Given the description of an element on the screen output the (x, y) to click on. 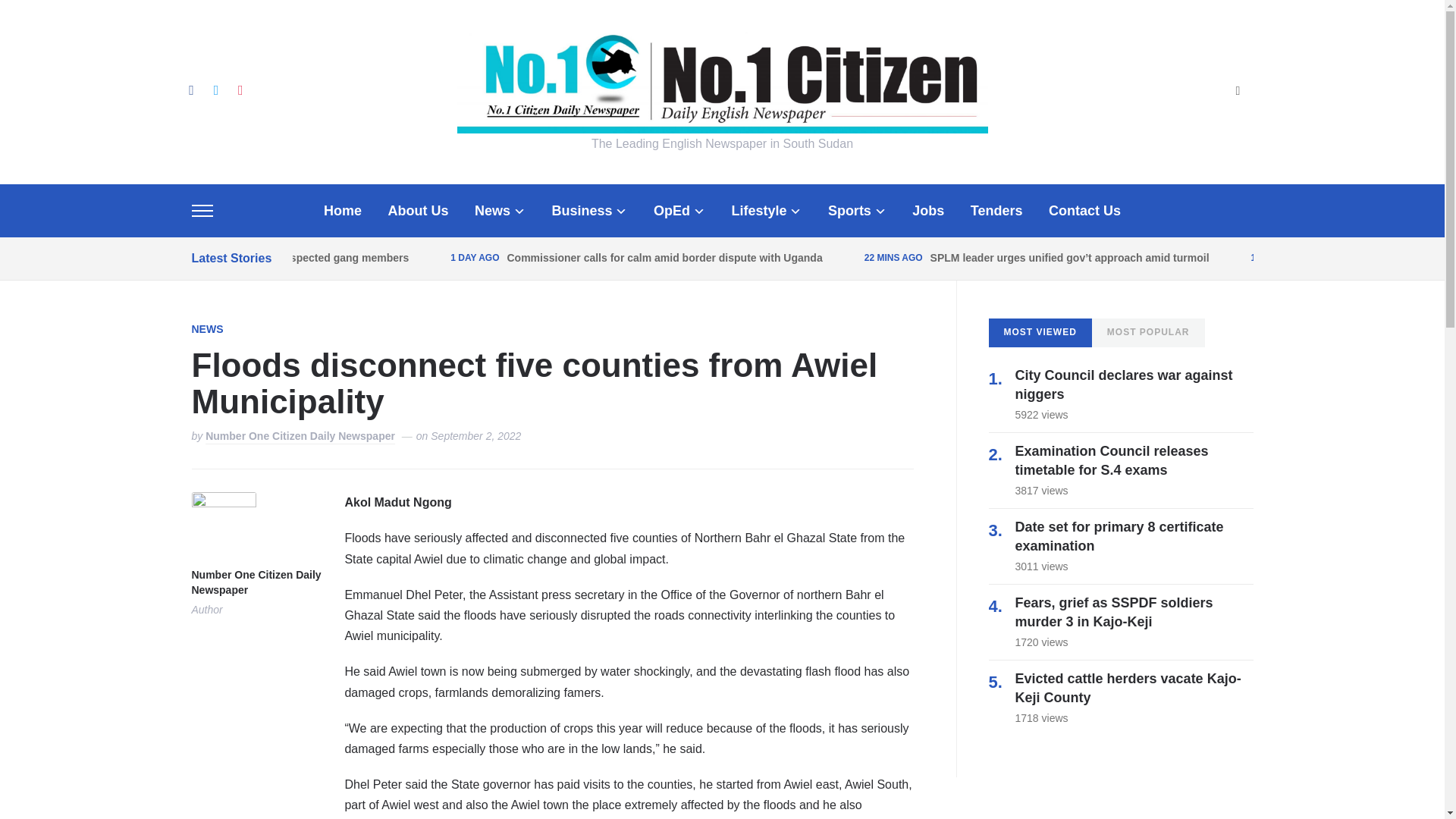
twitter (216, 88)
Follow Me (216, 88)
Commissioner calls for calm amid border dispute with Uganda (664, 257)
Search (1237, 91)
instagram (239, 88)
Posts by Number One Citizen Daily Newspaper (299, 436)
facebook (190, 88)
Police detains over 80 suspected gang members (286, 257)
Posts by Number One Citizen Daily Newspaper (255, 583)
Friend me on Facebook (190, 88)
